Given the description of an element on the screen output the (x, y) to click on. 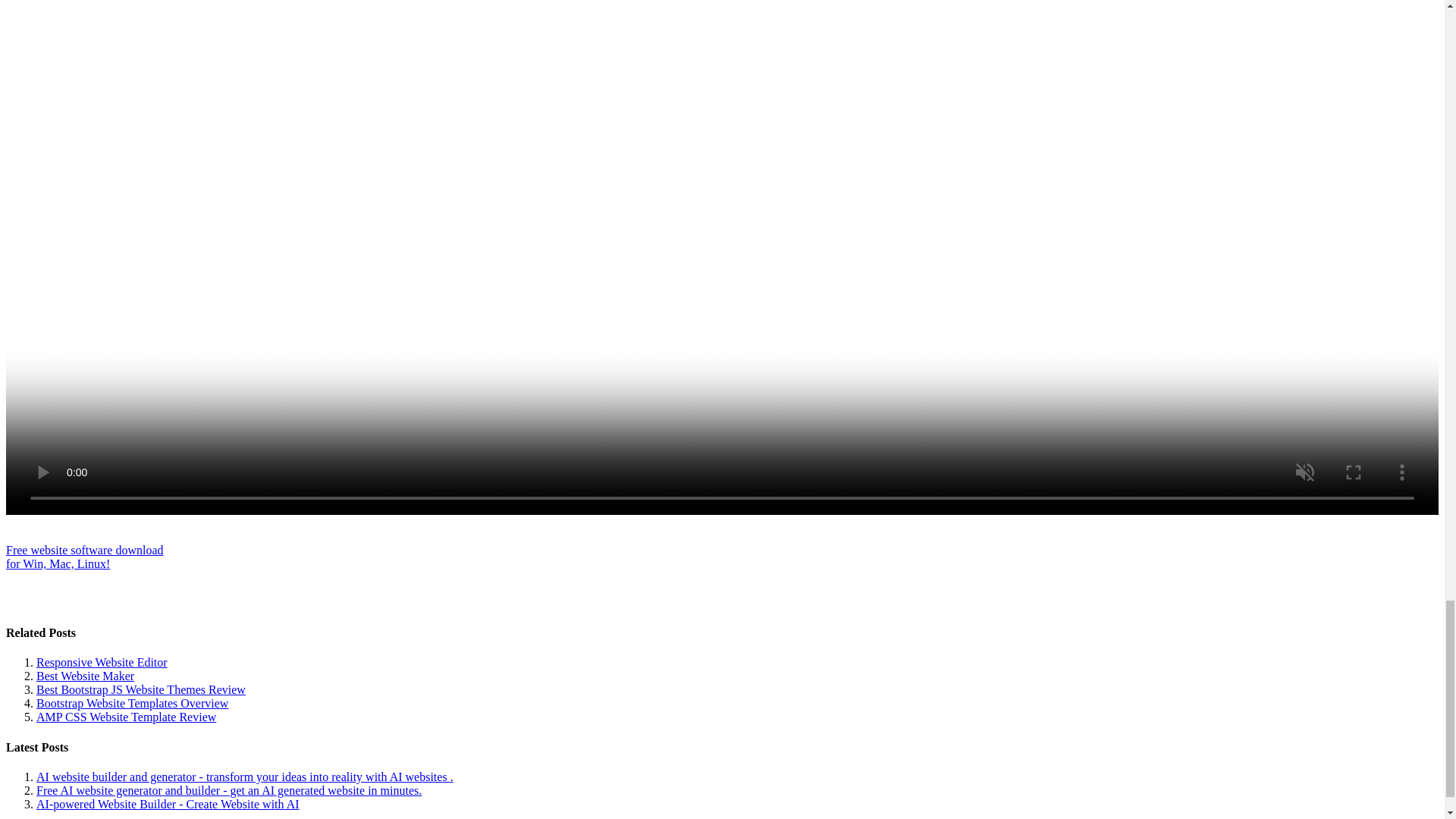
Responsive Website Editor (101, 662)
AI-powered Website Builder - Create Website with AI (167, 803)
Bootstrap Website Templates Overview (132, 703)
Best Website Maker (84, 675)
AMP CSS Website Template Review (125, 716)
Best Bootstrap JS Website Themes Review (141, 689)
